Given the description of an element on the screen output the (x, y) to click on. 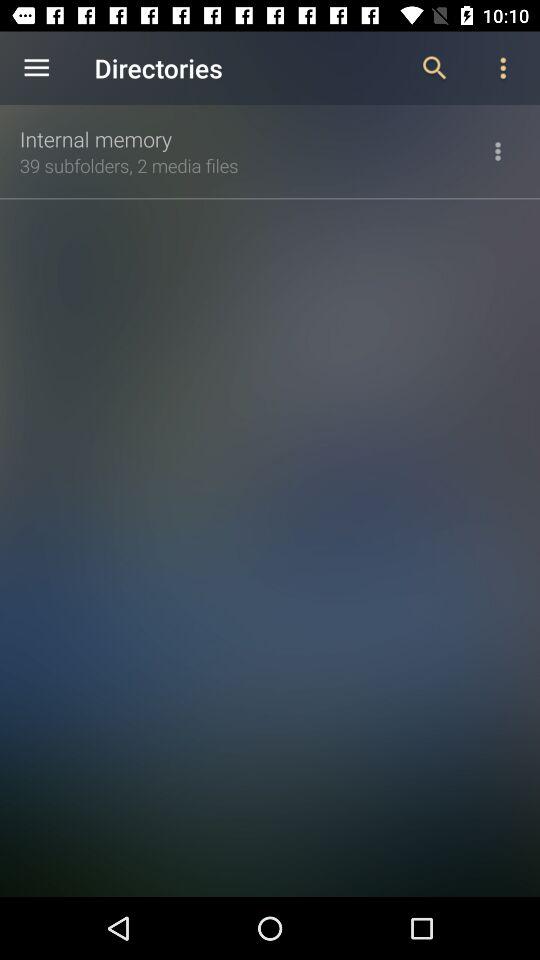
tap the app to the left of the directories app (36, 68)
